Given the description of an element on the screen output the (x, y) to click on. 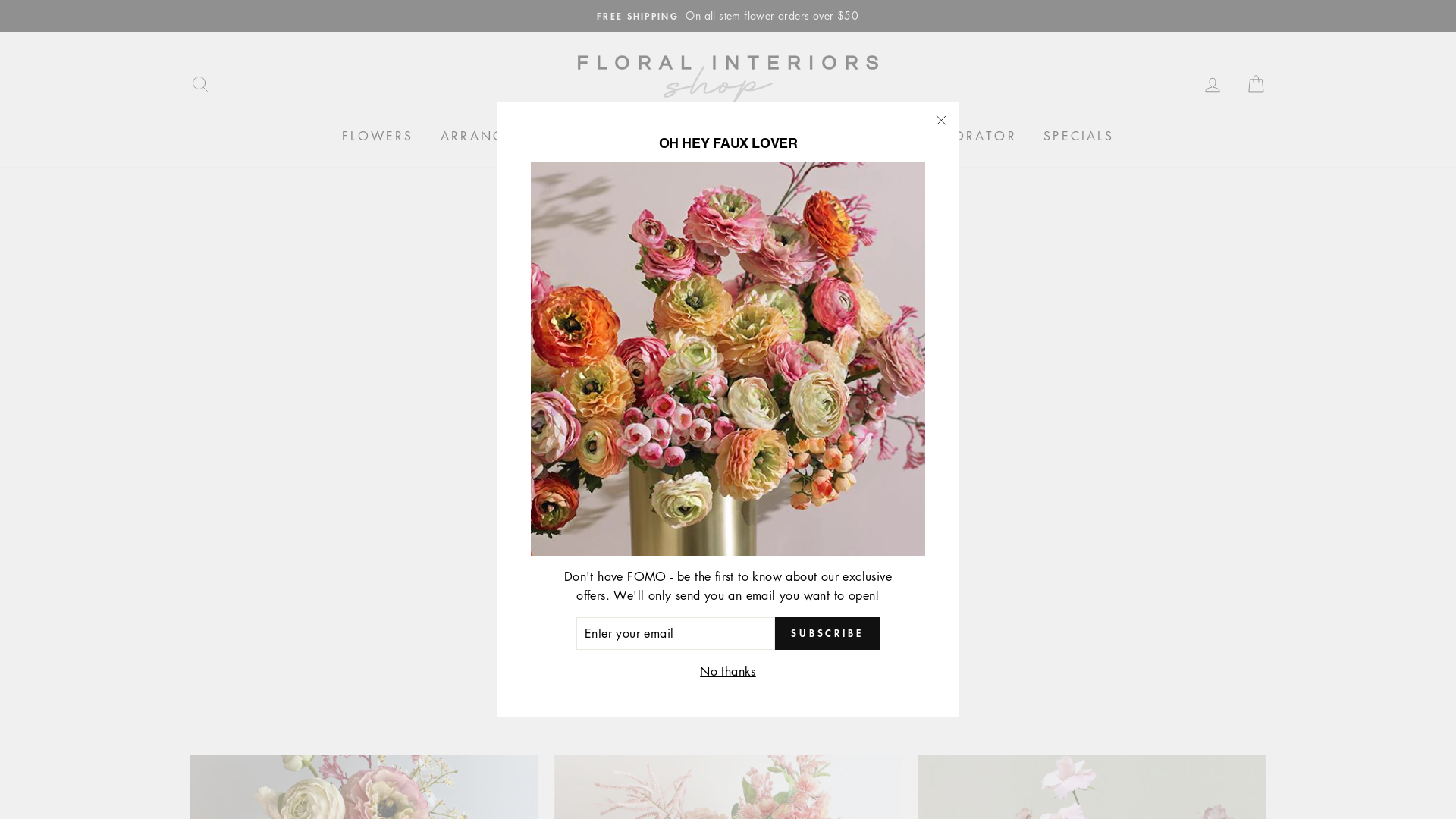
ARRANGEMENTS Element type: text (503, 136)
"Close (esc)" Element type: text (940, 120)
Continue shopping Element type: text (727, 348)
CART Element type: text (1255, 83)
GREENERY Element type: text (633, 136)
SUBSCRIBE Element type: text (827, 633)
Skip to content Element type: text (0, 0)
DECORATOR Element type: text (969, 136)
FLOWERS Element type: text (377, 136)
POTS Element type: text (875, 136)
LOG IN Element type: text (1212, 83)
PLANTS Element type: text (728, 136)
SEARCH Element type: text (199, 83)
TREES Element type: text (805, 136)
SPECIALS Element type: text (1078, 136)
No thanks Element type: text (727, 671)
